Given the description of an element on the screen output the (x, y) to click on. 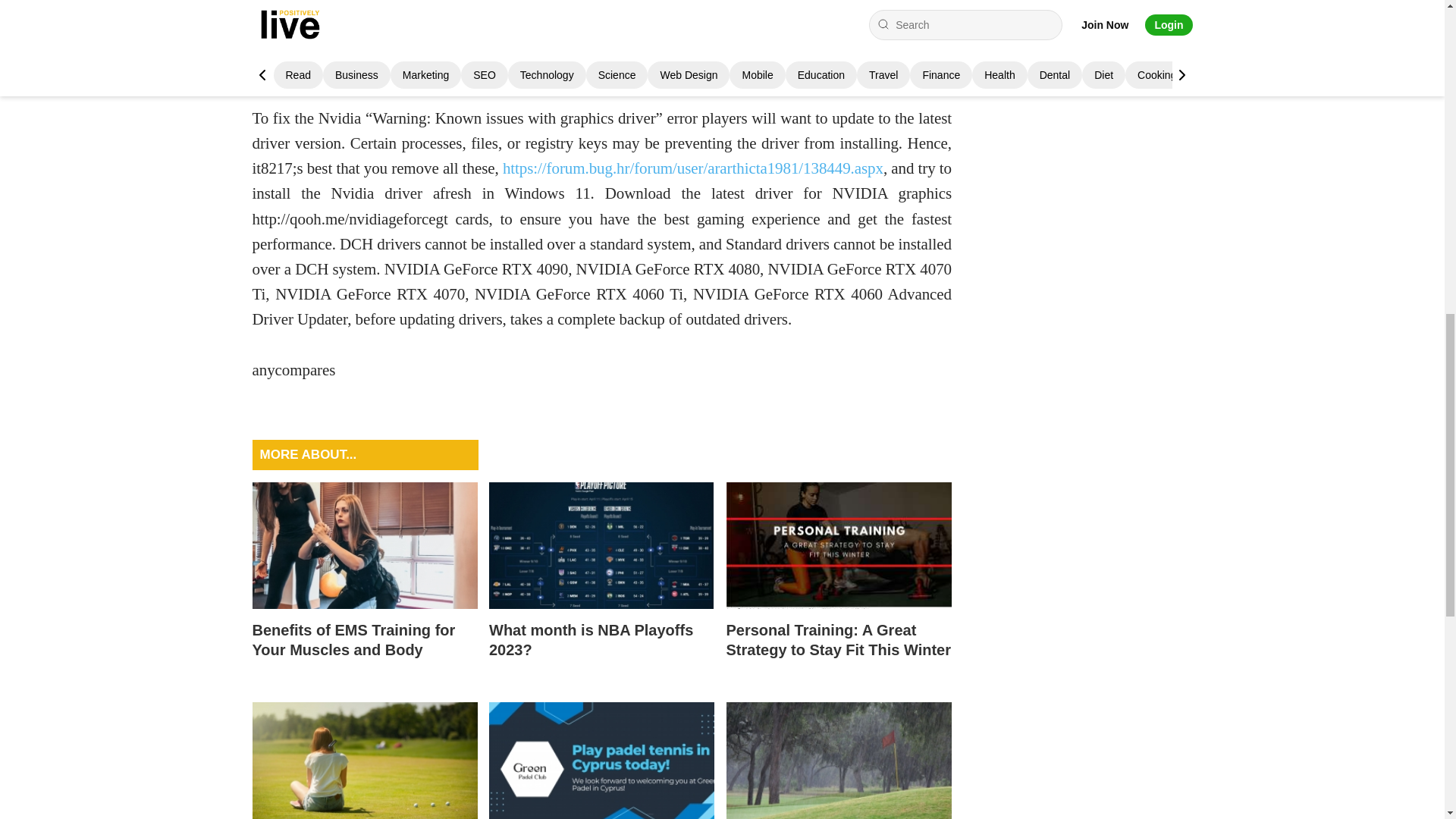
Tips to Stay Active This Winter (839, 545)
What month is NBA Playoffs 2023? (601, 545)
The Impact of Weather on Golf Performance (839, 760)
Left rough advantage: strategic play (364, 760)
Personal Training: A Great Strategy to Stay Fit This Winter (839, 584)
EMS (364, 545)
What You Need To Know About Padel Tennis in Limassol? (601, 760)
Benefits of EMS Training for Your Muscles and Body (364, 584)
Green Padel Club (601, 760)
